Given the description of an element on the screen output the (x, y) to click on. 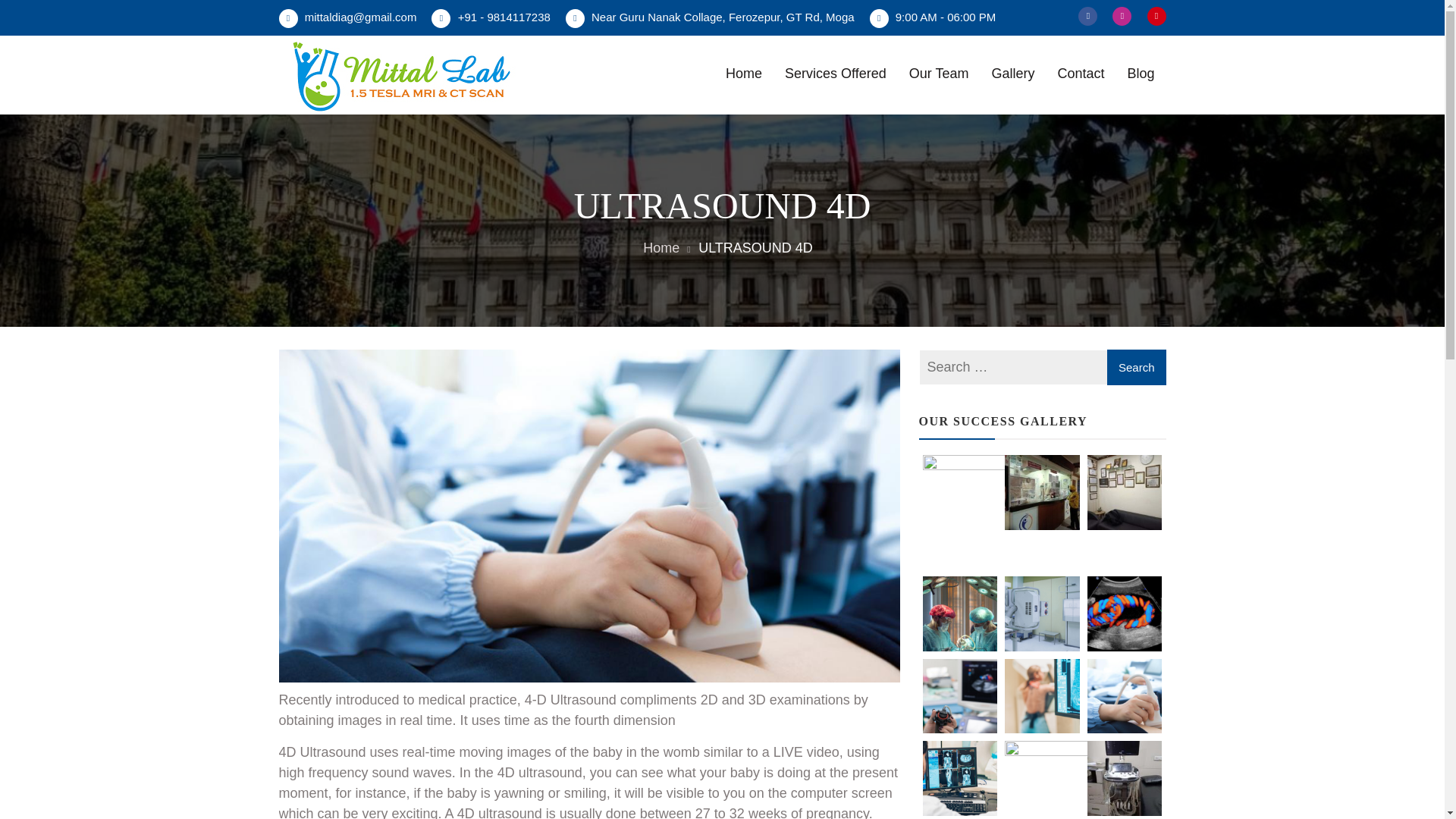
Services Offered (835, 73)
Our Team (938, 73)
Home (655, 248)
Contact (1080, 73)
Search (1136, 366)
Search (1136, 366)
Search (1136, 366)
